Given the description of an element on the screen output the (x, y) to click on. 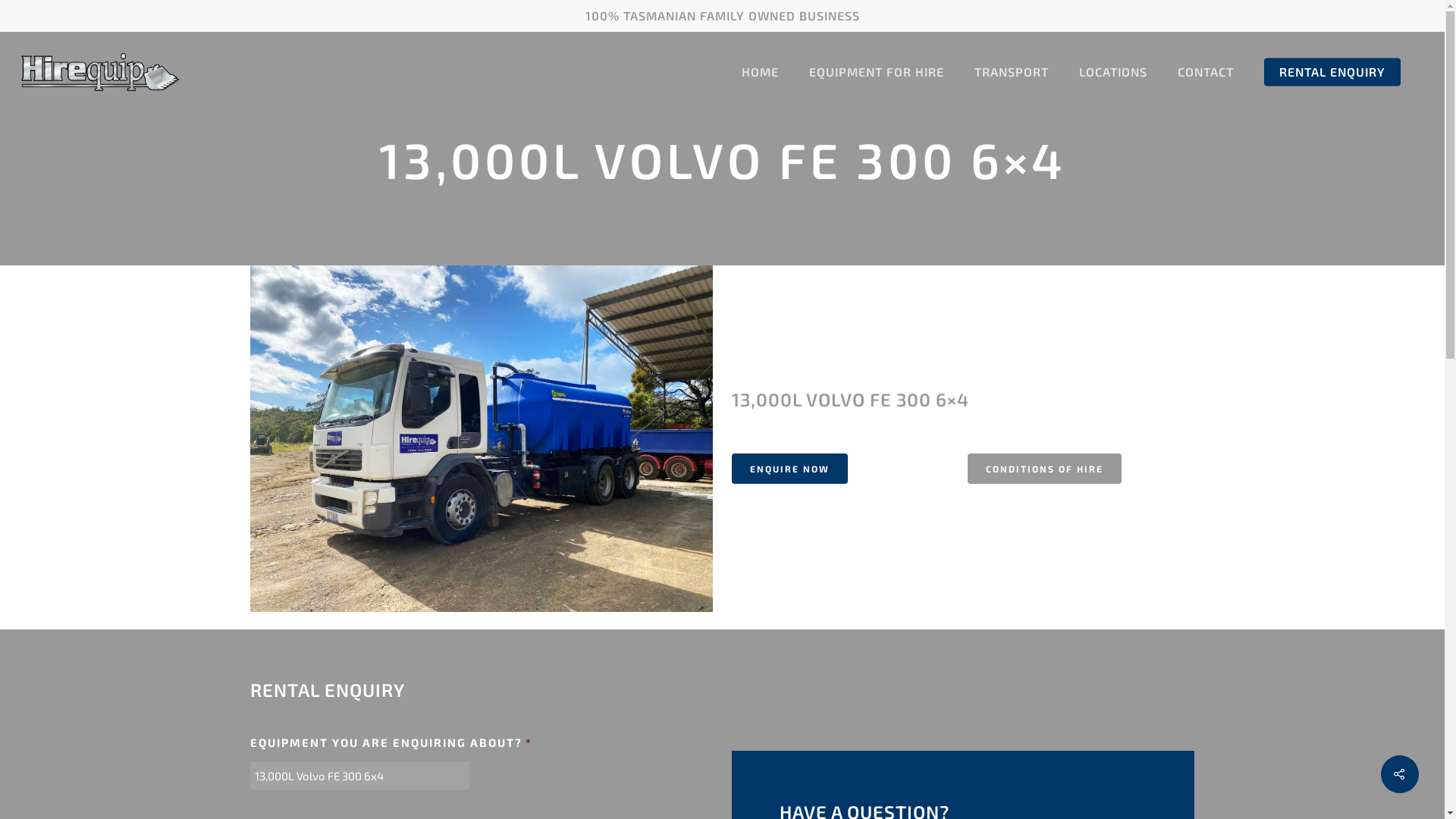
CONTACT Element type: text (1205, 71)
LOCATIONS Element type: text (1112, 71)
HOME Element type: text (759, 71)
EQUIPMENT FOR HIRE Element type: text (876, 71)
ENQUIRE NOW Element type: text (789, 468)
Page 2 Element type: hover (962, 427)
RENTAL ENQUIRY Element type: text (1332, 71)
CONDITIONS OF HIRE Element type: text (1044, 468)
TRANSPORT Element type: text (1011, 71)
